Given the description of an element on the screen output the (x, y) to click on. 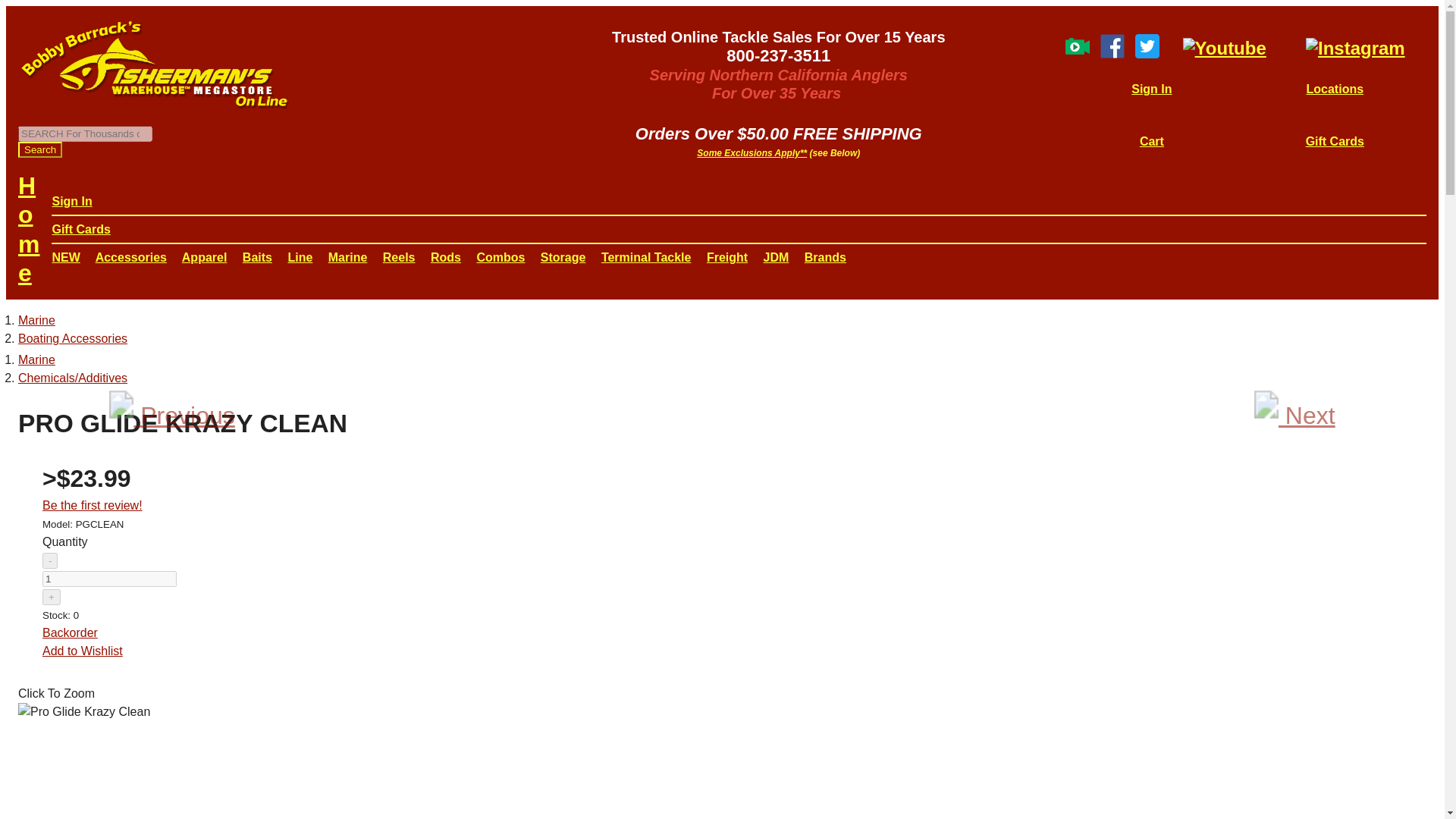
Reels (398, 256)
Search (39, 149)
Twitter (1146, 51)
Cart (1151, 141)
Terminal Tackle (646, 256)
Storage (563, 256)
Accessories (131, 256)
Youtube (1224, 47)
Gift Cards (80, 228)
Gift Cards (1335, 141)
Freight (727, 256)
Apparel (204, 256)
Videos (1077, 51)
Baits (257, 256)
Marine (36, 319)
